Given the description of an element on the screen output the (x, y) to click on. 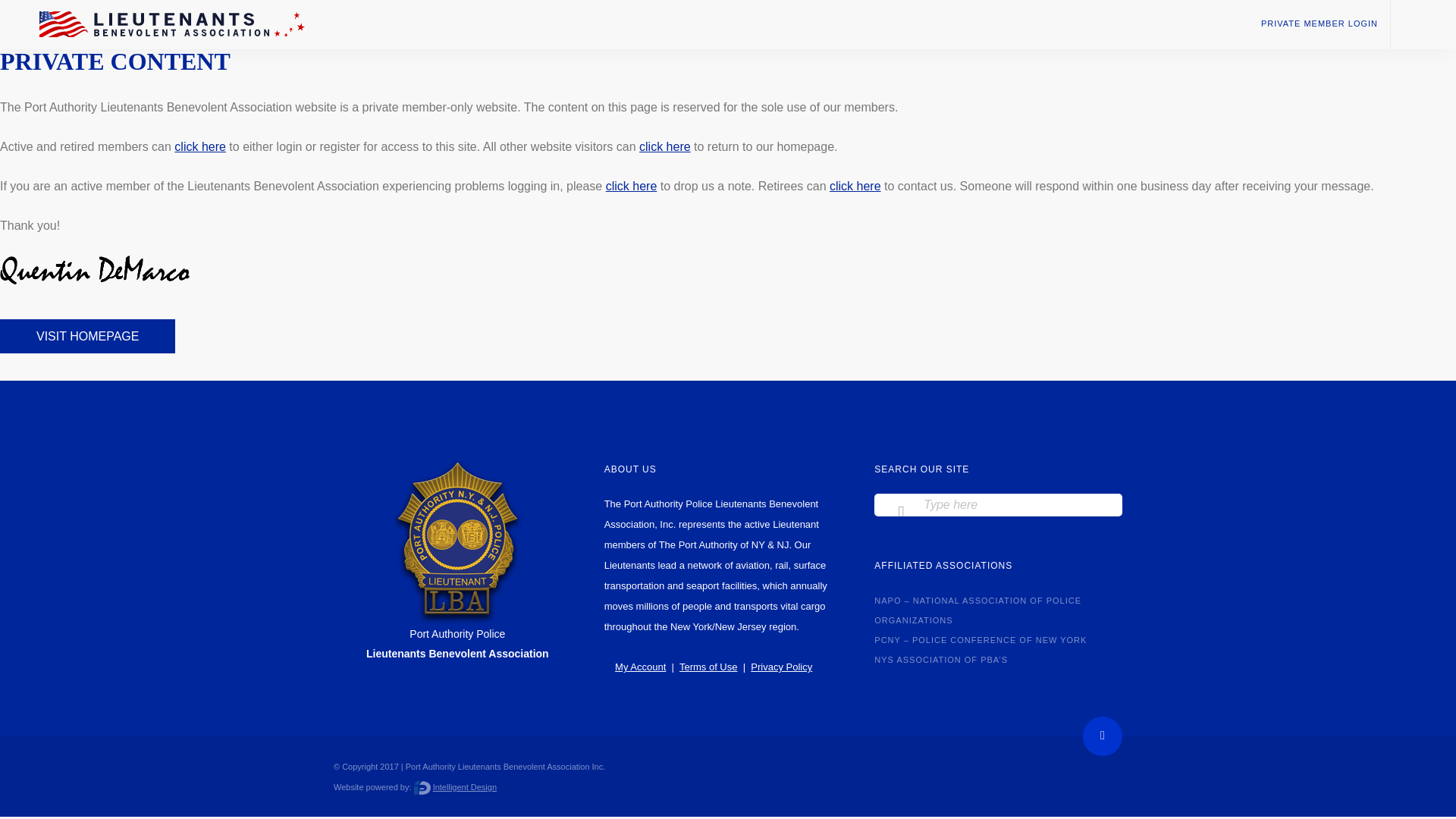
Privacy Policy (781, 666)
Intelligent Design (464, 786)
click here (854, 185)
click here (199, 146)
My Account (639, 666)
Terms of Use (708, 666)
click here (664, 146)
VISIT HOMEPAGE (87, 335)
click here (631, 185)
PRIVATE MEMBER LOGIN (1318, 23)
